Given the description of an element on the screen output the (x, y) to click on. 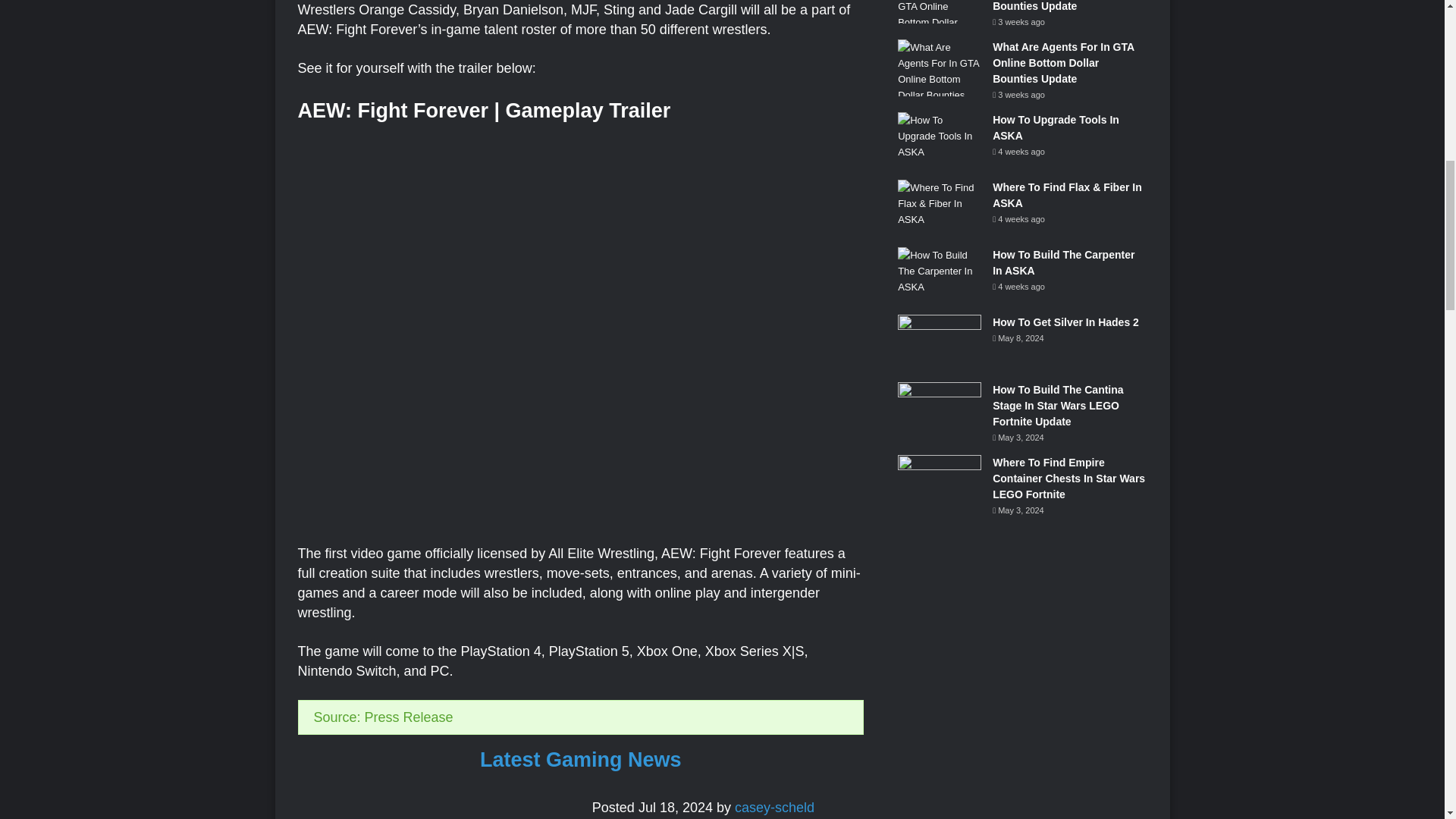
casey-scheld (774, 807)
Latest Gaming News (580, 759)
